Given the description of an element on the screen output the (x, y) to click on. 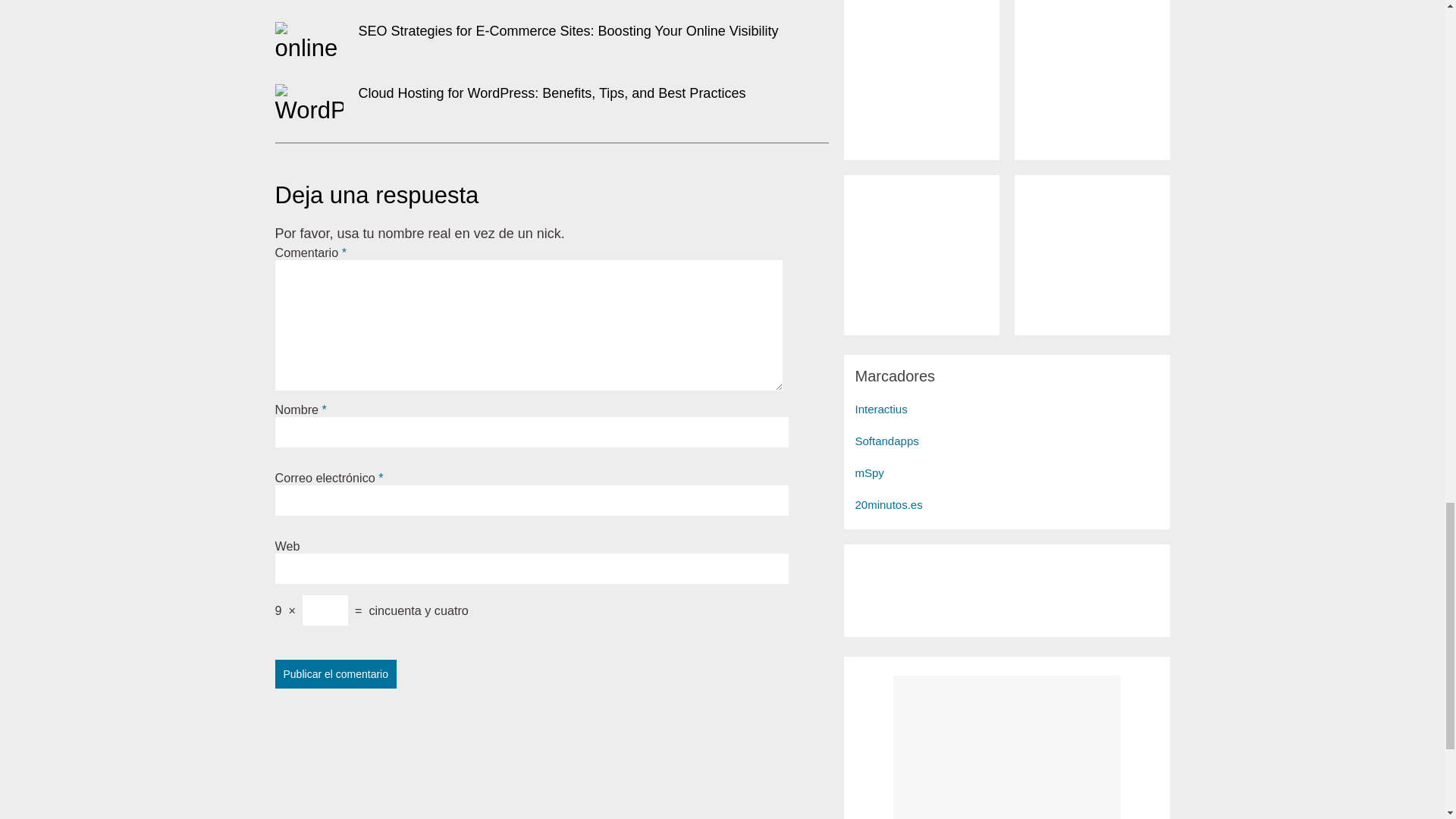
Publicar el comentario (335, 674)
